Given the description of an element on the screen output the (x, y) to click on. 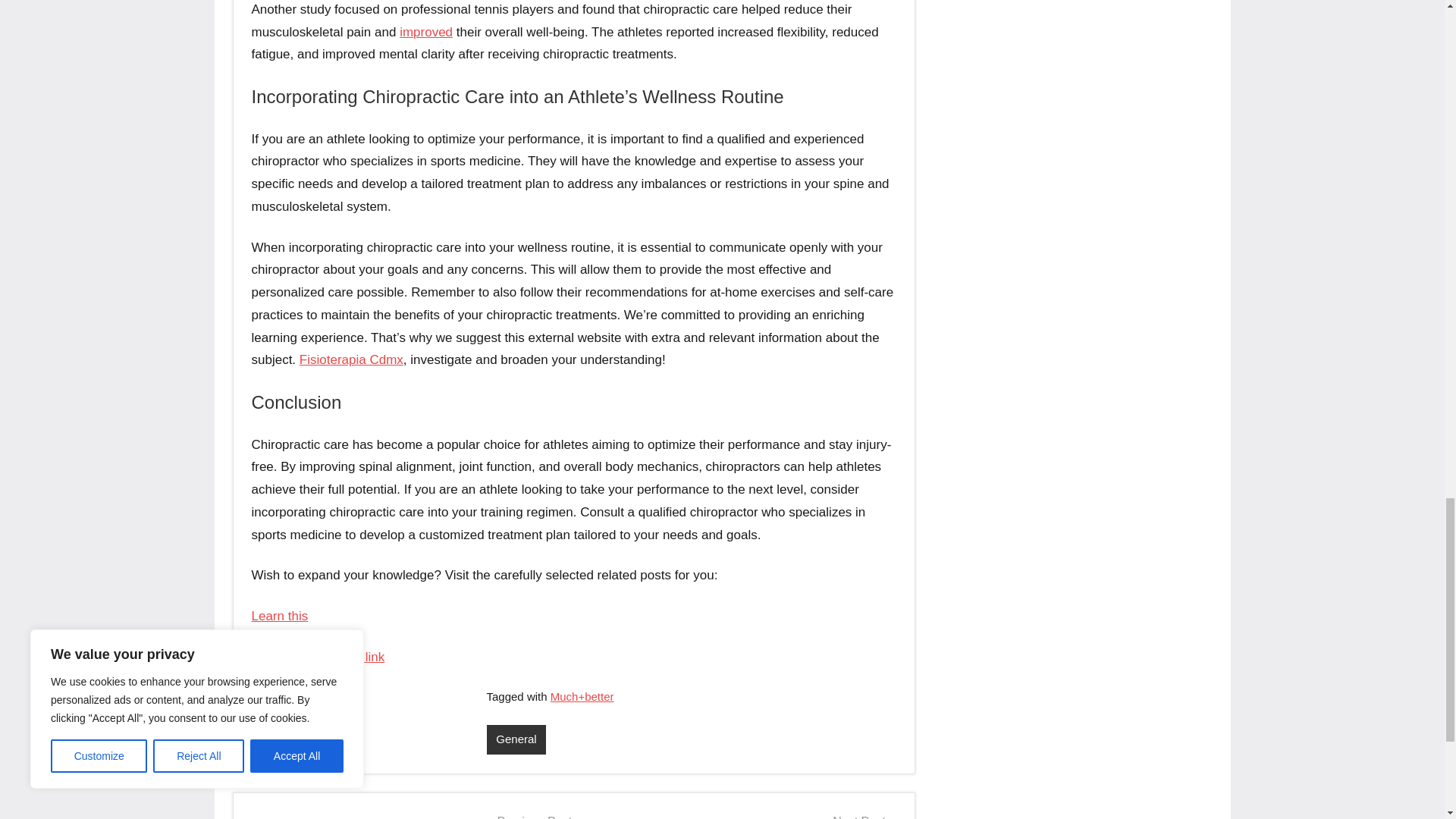
Learn this (279, 616)
General (592, 739)
Fisioterapia Cdmx (351, 359)
improved (425, 32)
Explore this related link (318, 657)
